Given the description of an element on the screen output the (x, y) to click on. 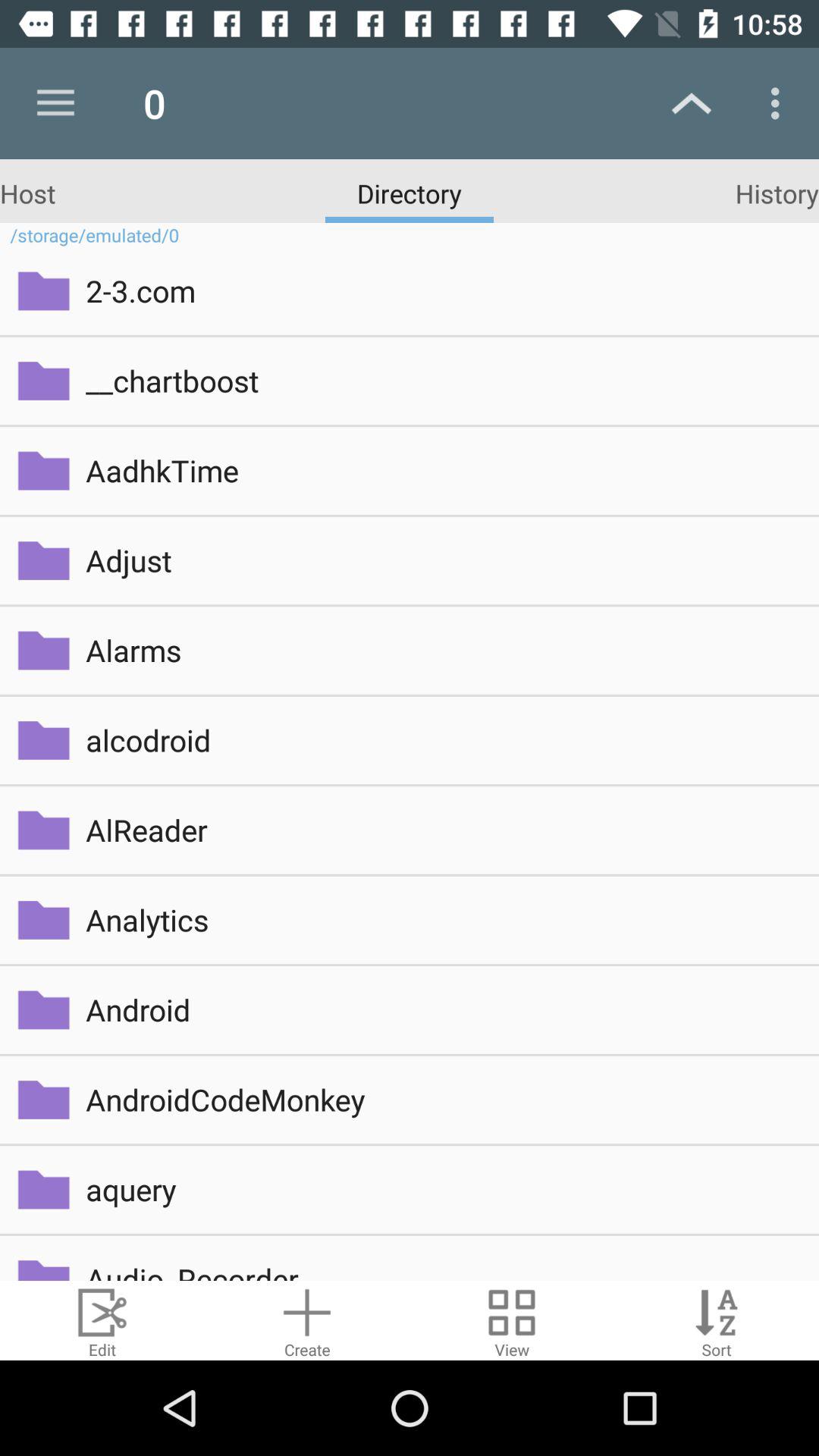
view (511, 1320)
